Given the description of an element on the screen output the (x, y) to click on. 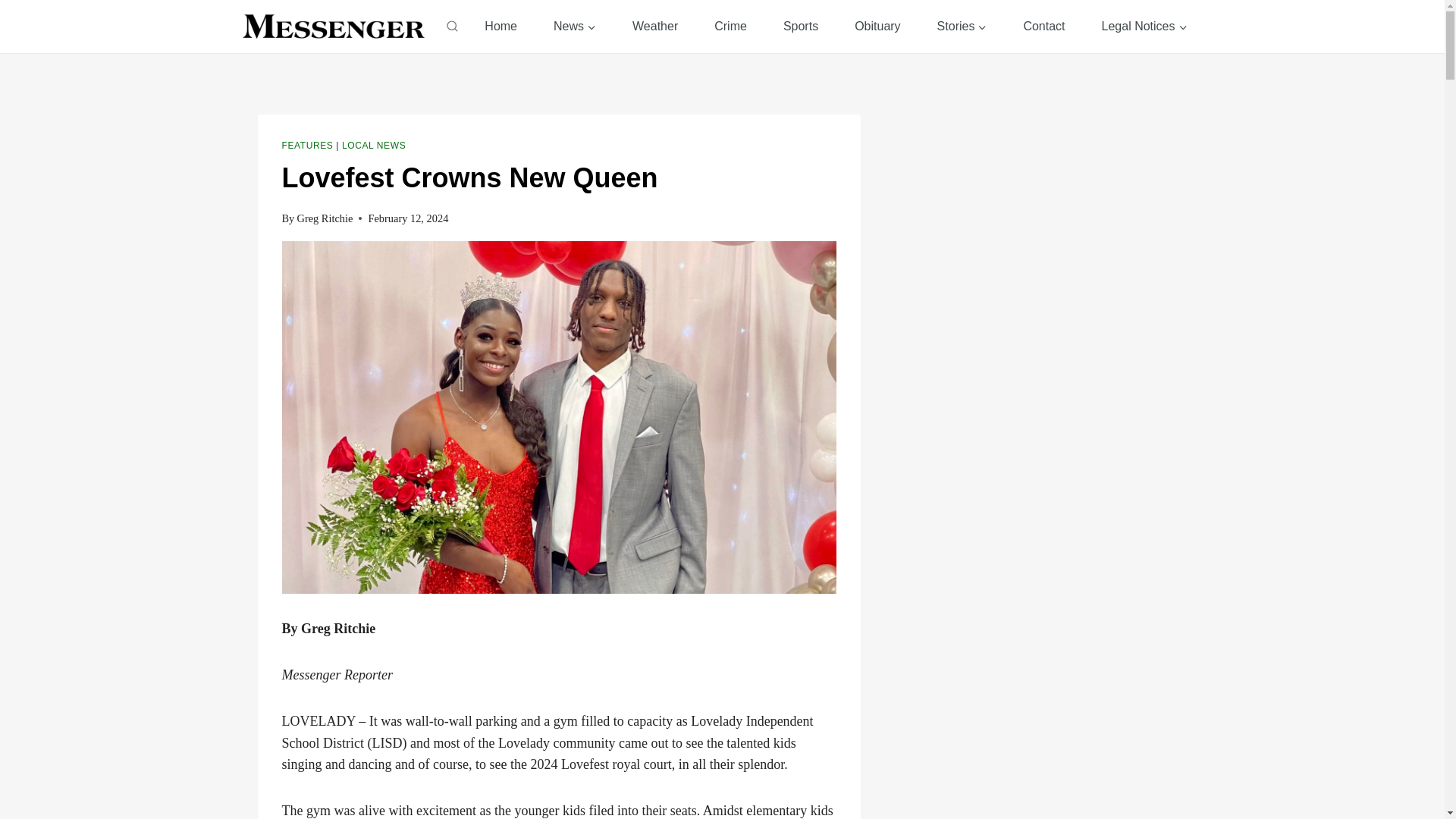
Greg Ritchie (324, 218)
Sports (800, 26)
Contact (1043, 26)
Obituary (876, 26)
Weather (654, 26)
FEATURES (307, 145)
Home (500, 26)
Crime (730, 26)
Stories (962, 26)
Legal Notices (1144, 26)
